Given the description of an element on the screen output the (x, y) to click on. 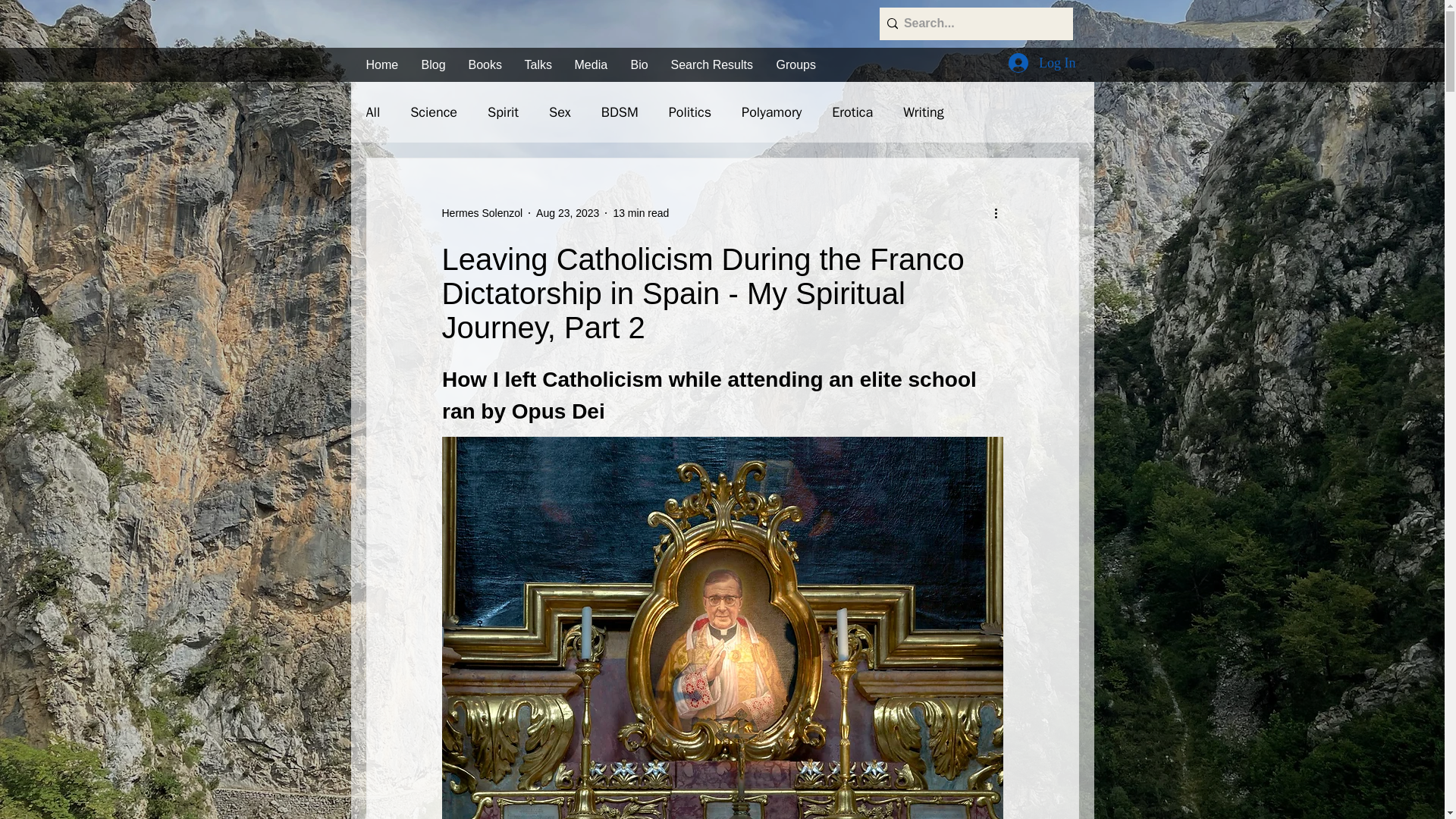
Blog (433, 64)
Books (484, 64)
Hermes Solenzol (481, 212)
13 min read (640, 212)
Bio (638, 64)
Aug 23, 2023 (566, 212)
Log In (1041, 62)
Writing (922, 112)
Search Results (712, 64)
Erotica (851, 112)
